Given the description of an element on the screen output the (x, y) to click on. 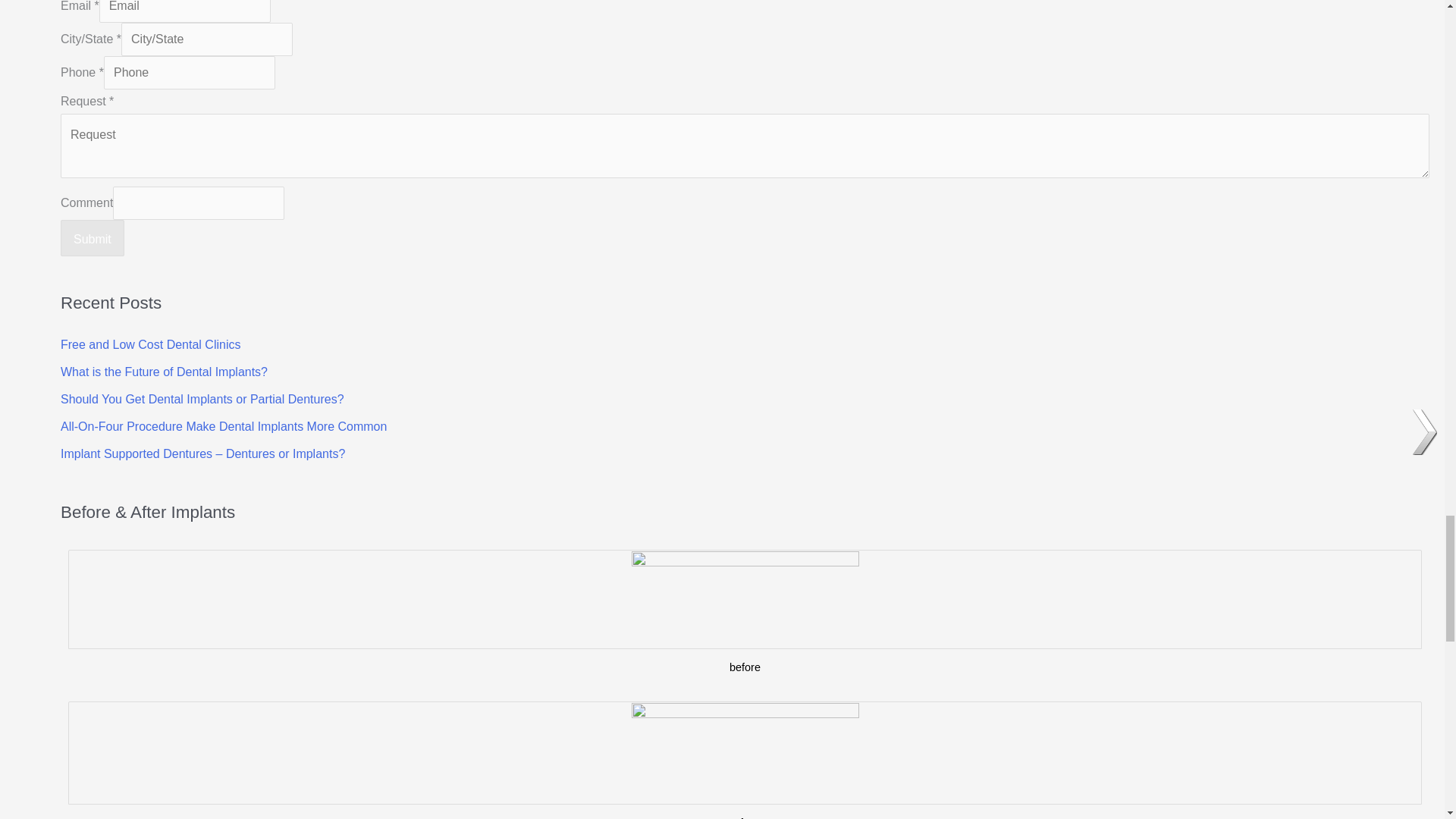
Submit (92, 238)
Free and Low Cost Dental Clinics (150, 344)
What is the Future of Dental Implants? (164, 371)
Should You Get Dental Implants or Partial Dentures? (202, 399)
All-On-Four Procedure Make Dental Implants More Common (224, 426)
